Given the description of an element on the screen output the (x, y) to click on. 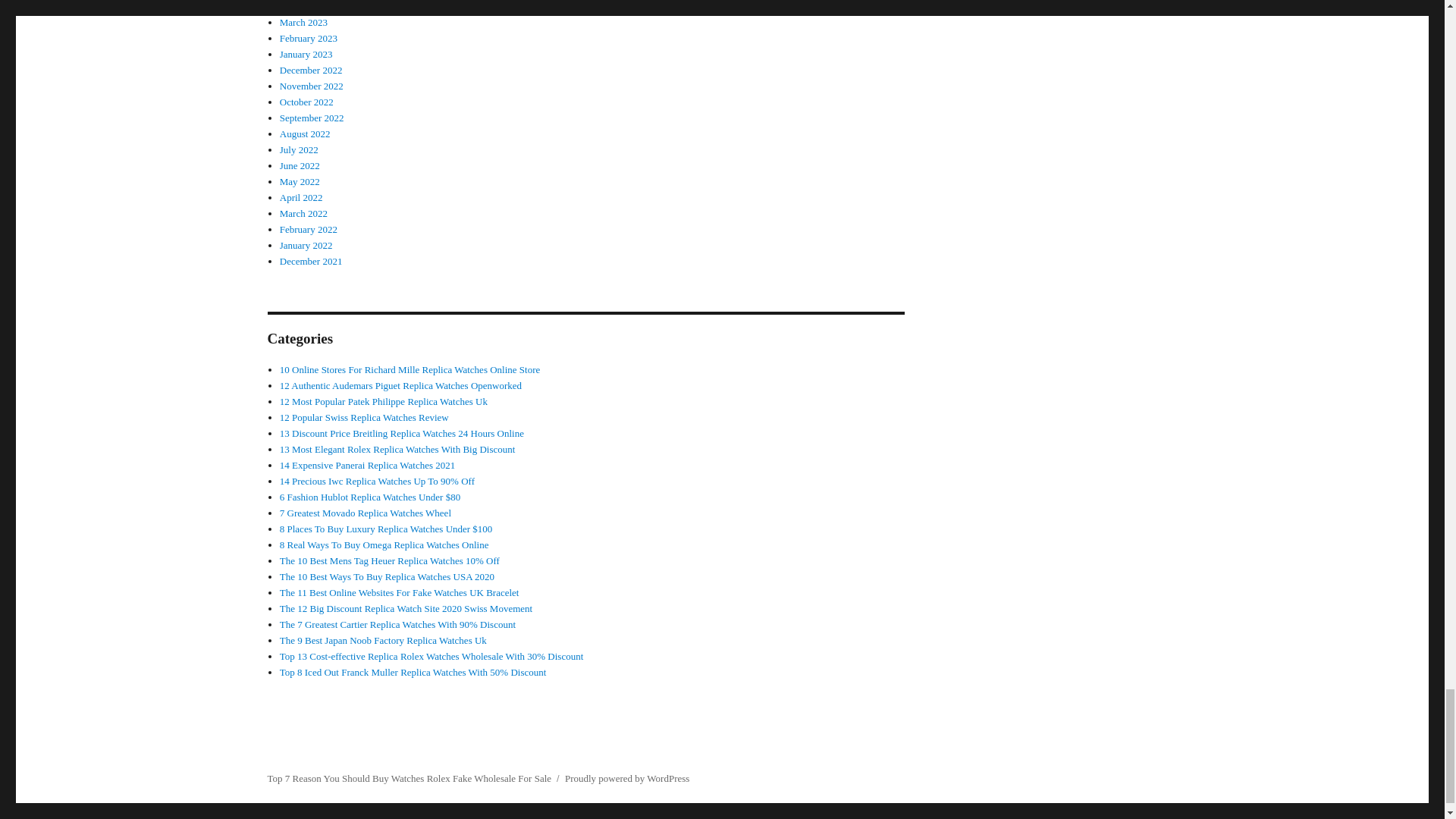
February 2023 (308, 38)
November 2022 (311, 85)
January 2023 (306, 53)
October 2022 (306, 101)
September 2022 (311, 117)
March 2023 (303, 21)
April 2023 (301, 6)
December 2022 (310, 70)
